Given the description of an element on the screen output the (x, y) to click on. 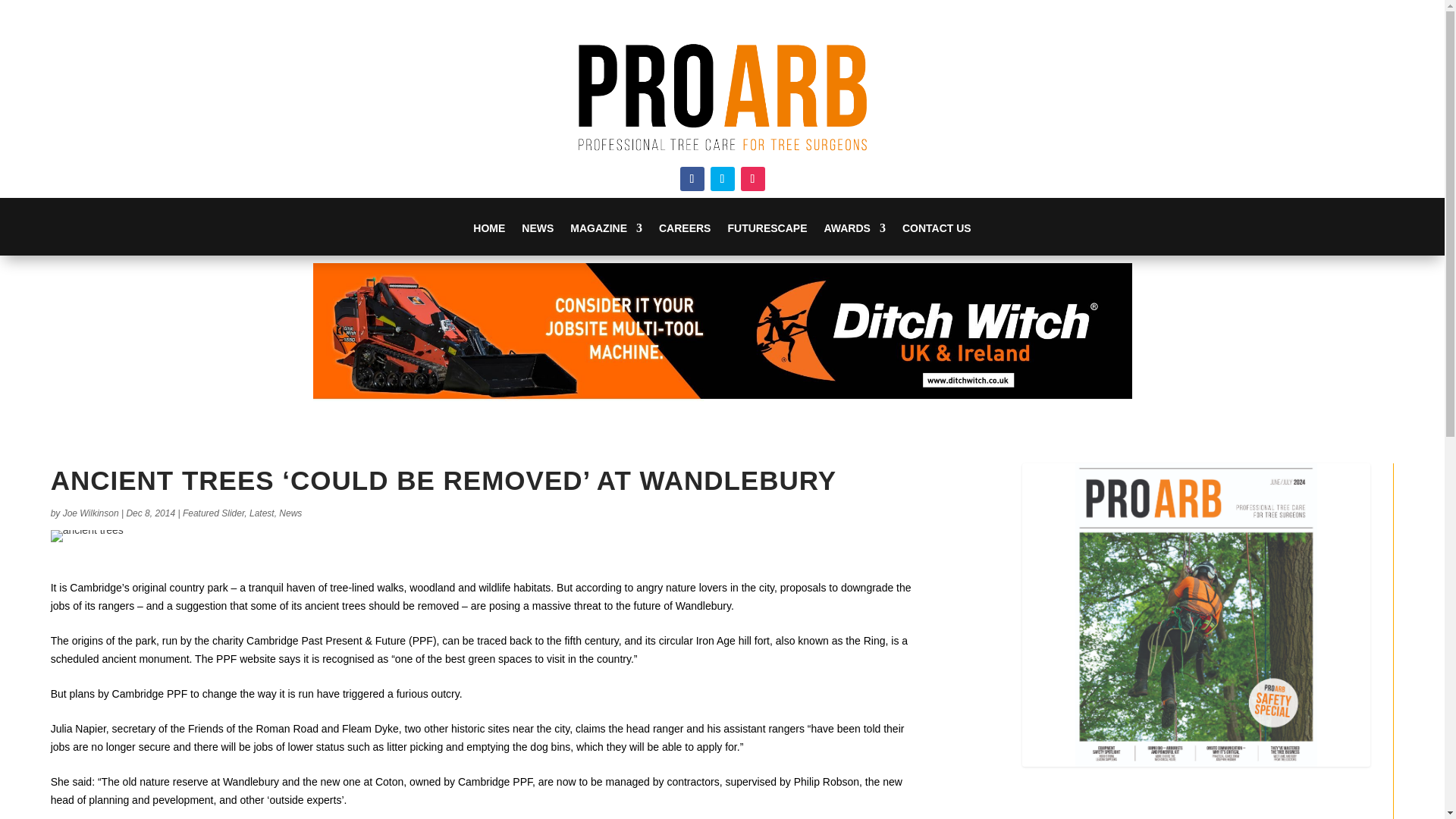
NEWS (537, 238)
HOME (489, 238)
Posts by Joe Wilkinson (90, 512)
Follow on Twitter (721, 178)
Follow on Instagram (751, 178)
Follow on Facebook (691, 178)
ancient trees (86, 535)
MAGAZINE (606, 238)
